Given the description of an element on the screen output the (x, y) to click on. 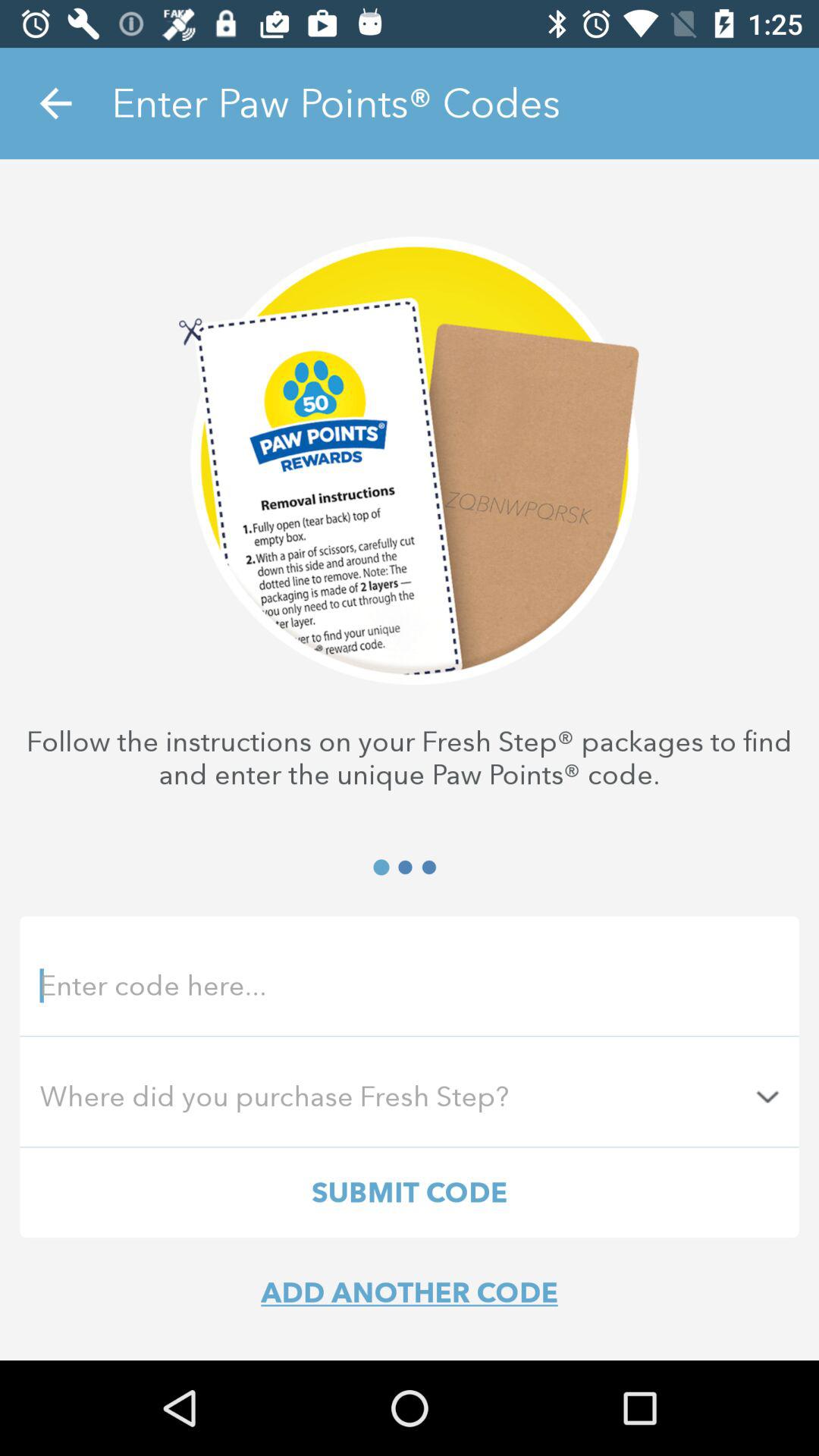
swipe to submit code item (409, 1192)
